Given the description of an element on the screen output the (x, y) to click on. 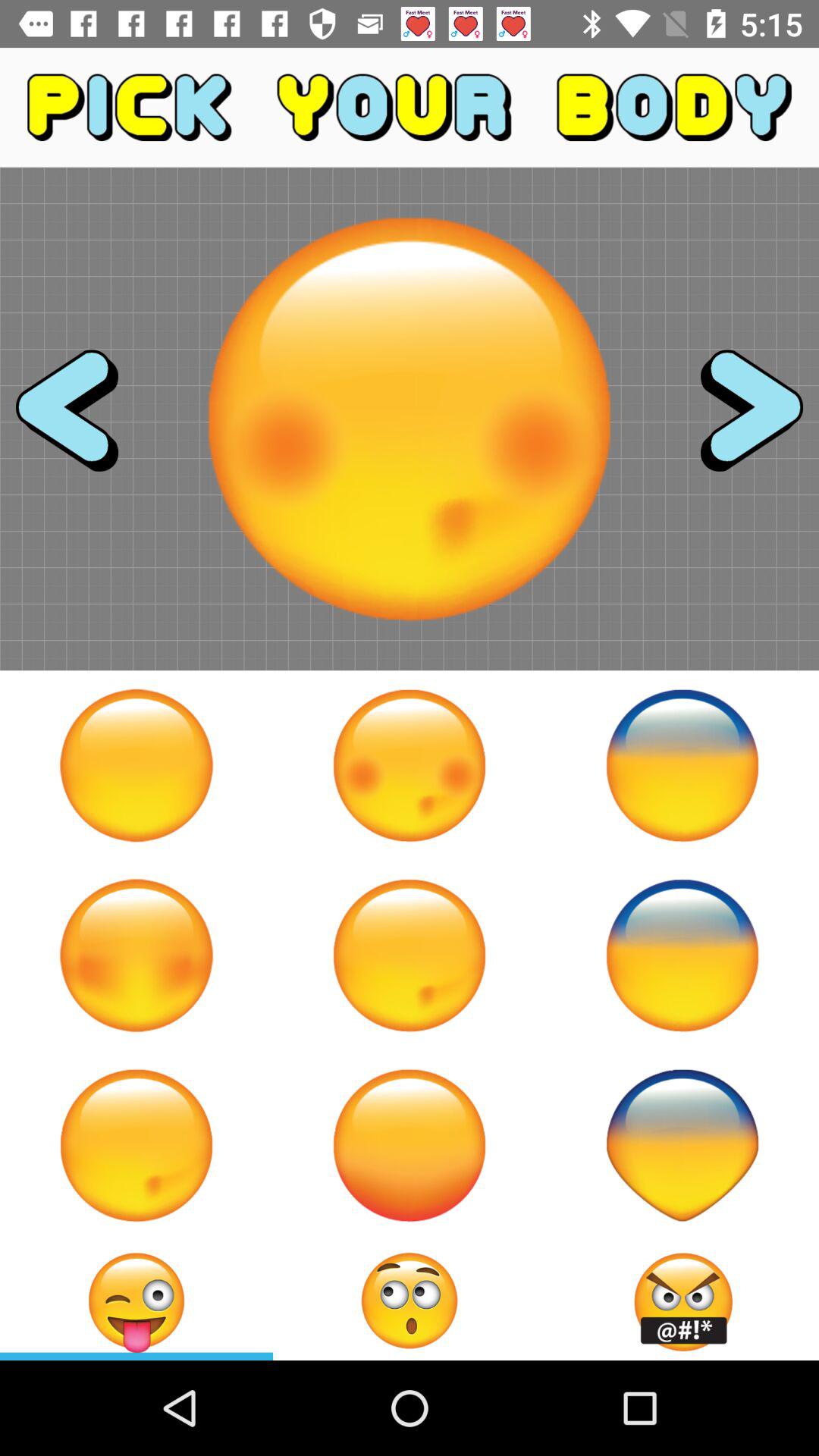
emoji button (409, 765)
